Given the description of an element on the screen output the (x, y) to click on. 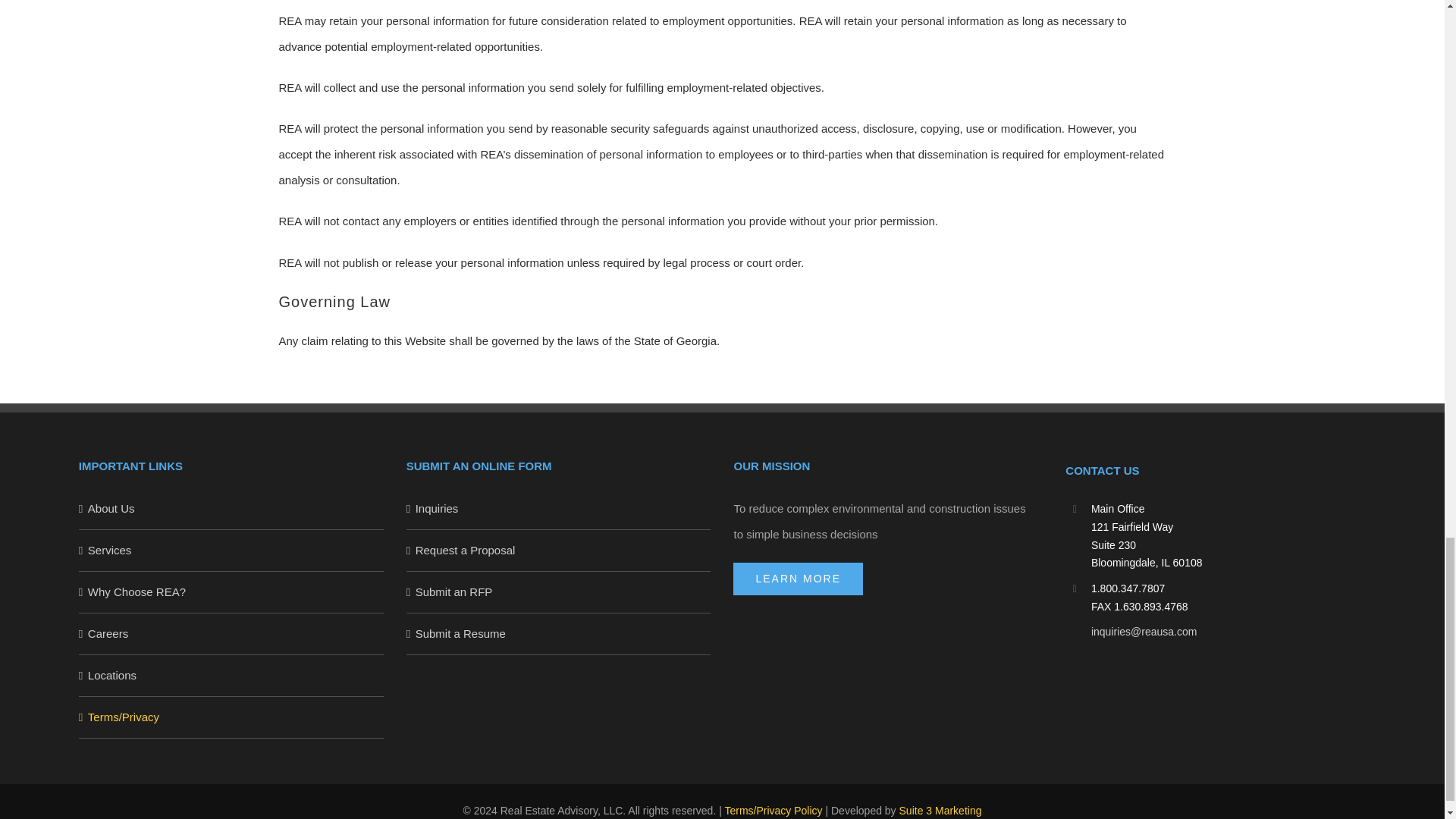
Services (231, 550)
Submit a Resume (558, 633)
Request a Proposal (558, 550)
Inquiries (558, 508)
Suite 3 Marketing (940, 810)
Submit an RFP (558, 592)
About Us (231, 508)
Locations (231, 675)
Why Choose REA? (231, 592)
LEARN MORE (798, 578)
